Given the description of an element on the screen output the (x, y) to click on. 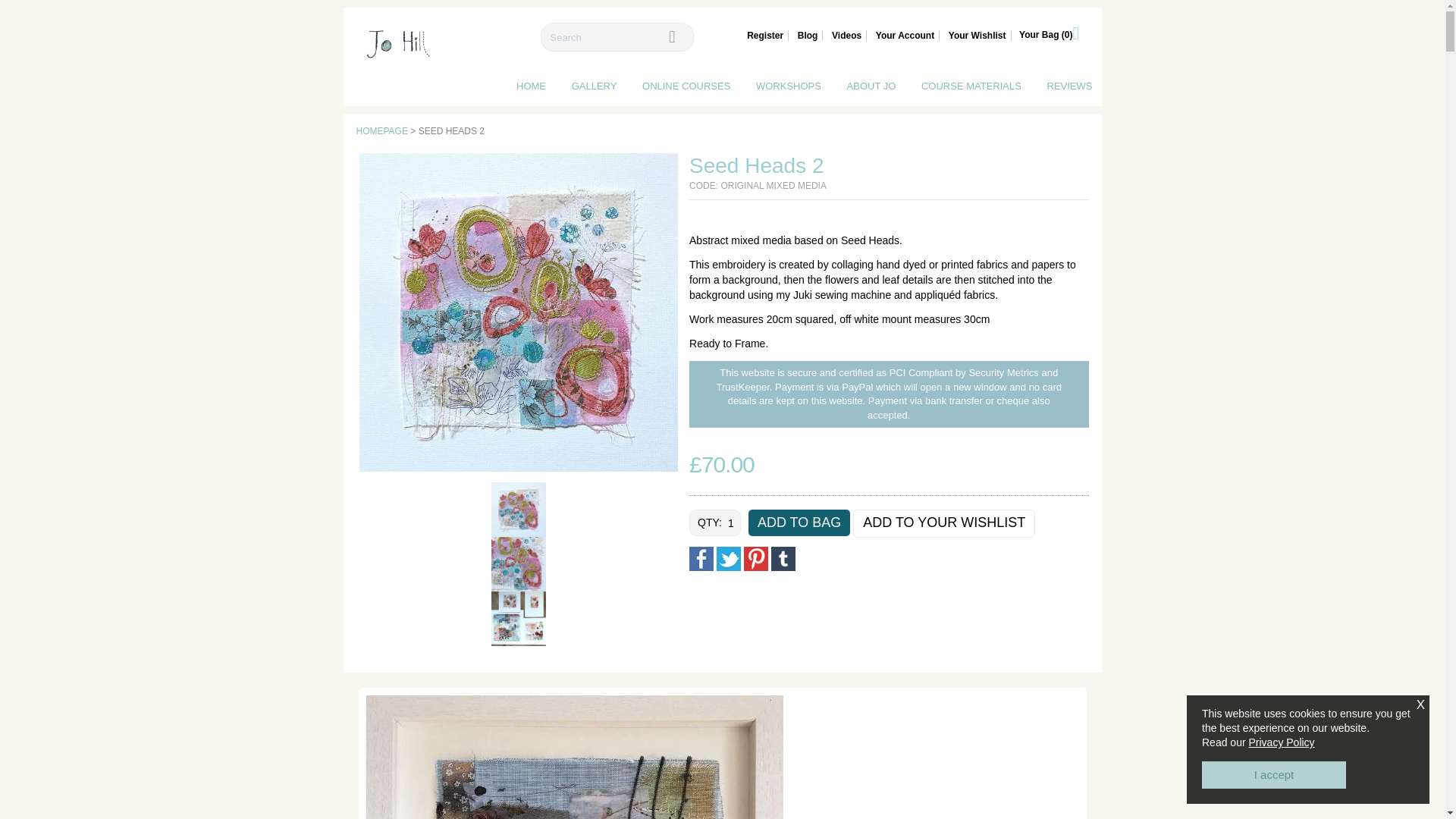
ONLINE COURSES (686, 85)
Pin It (756, 558)
Share on Twitter (728, 558)
Share on Facebook (700, 558)
HOME (531, 85)
REVIEWS (1069, 85)
HOMEPAGE (381, 131)
Share on Tumblr (782, 558)
ADD TO YOUR WISHLIST (944, 523)
Your Wishlist (977, 35)
ABOUT JO (871, 85)
WORKSHOPS (788, 85)
Your Account (904, 35)
COURSE MATERIALS (971, 85)
ADD TO BAG (799, 522)
